Given the description of an element on the screen output the (x, y) to click on. 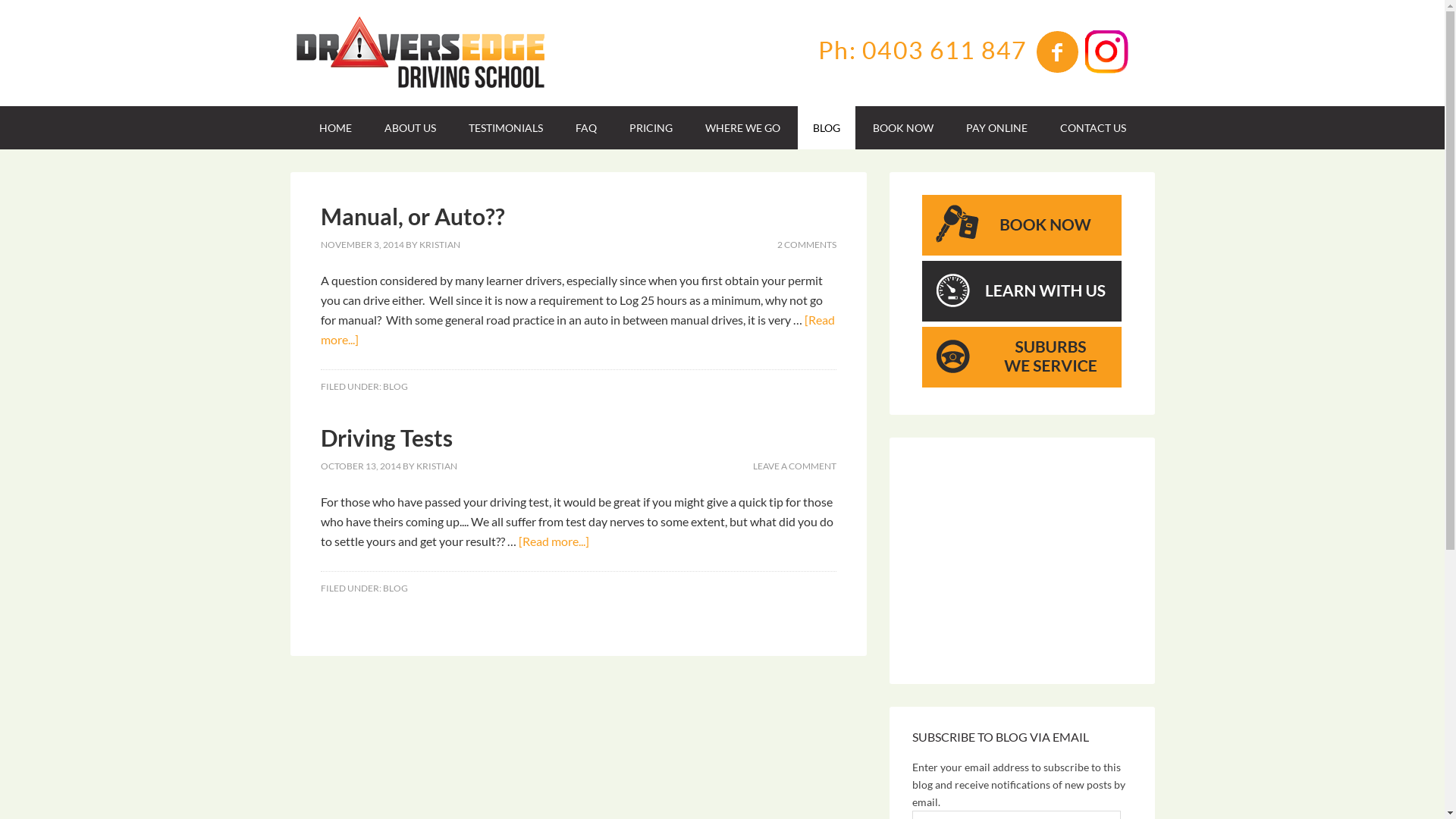
TESTIMONIALS Element type: text (505, 127)
KRISTIAN Element type: text (438, 244)
Driving Tests Element type: text (385, 437)
HOME Element type: text (334, 127)
BLOG Element type: text (394, 386)
PRICING Element type: text (650, 127)
WHERE WE GO Element type: text (742, 127)
BLOG Element type: text (394, 587)
BOOK NOW Element type: text (901, 127)
KRISTIAN Element type: text (435, 465)
DRIVERS EDGE DRIVING SCHOOL Element type: text (418, 53)
BLOG Element type: text (826, 127)
ABOUT US Element type: text (409, 127)
Manual, or Auto?? Element type: text (412, 215)
LEAVE A COMMENT Element type: text (793, 465)
[Read more...] Element type: text (553, 540)
[Read more...] Element type: text (577, 329)
PAY ONLINE Element type: text (996, 127)
2 COMMENTS Element type: text (805, 244)
CONTACT US Element type: text (1092, 127)
FAQ Element type: text (585, 127)
